Given the description of an element on the screen output the (x, y) to click on. 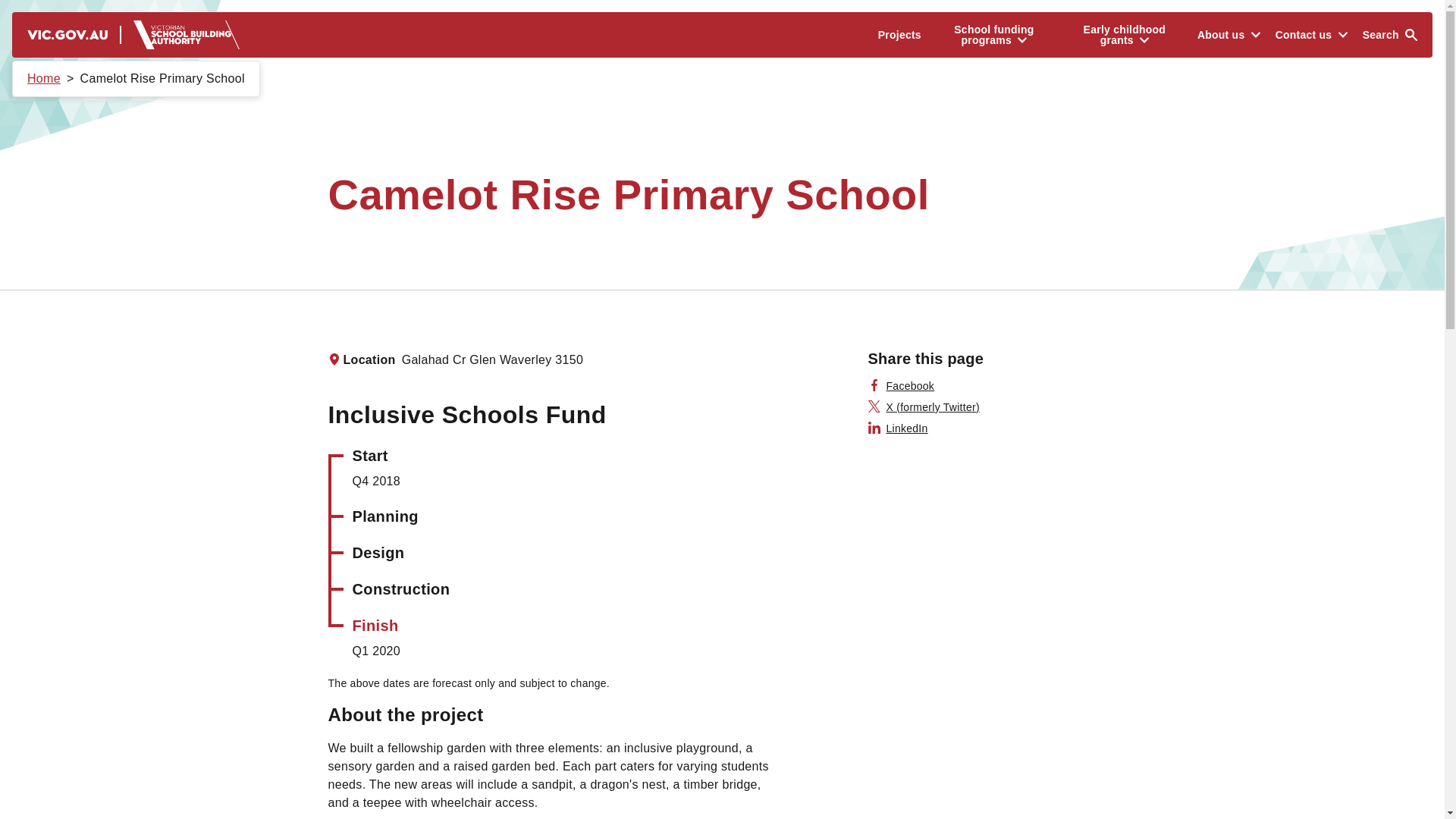
Projects (899, 34)
Home (44, 78)
LinkedIn (897, 427)
Facebook (900, 385)
